Given the description of an element on the screen output the (x, y) to click on. 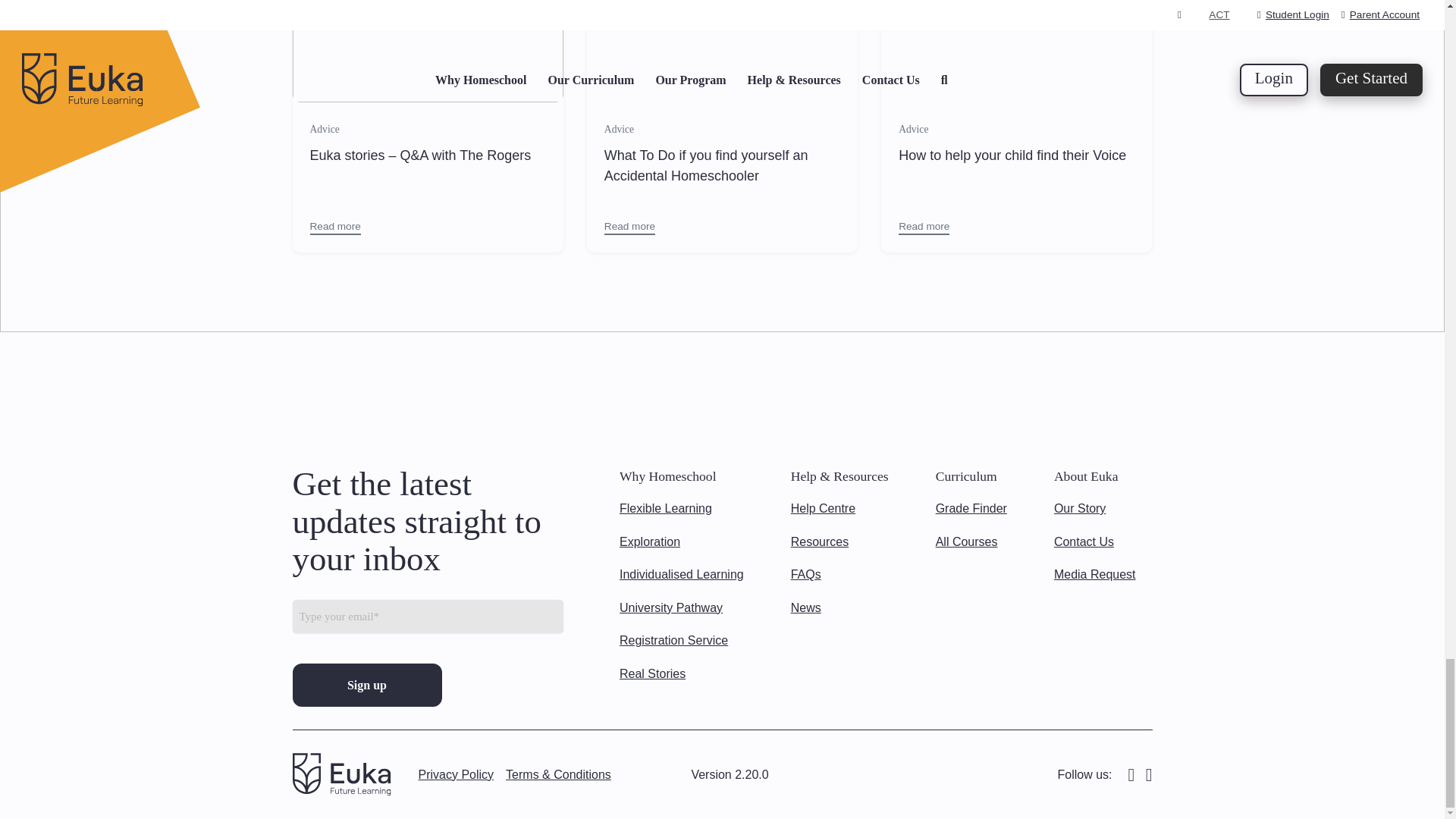
Sign up (367, 684)
